Given the description of an element on the screen output the (x, y) to click on. 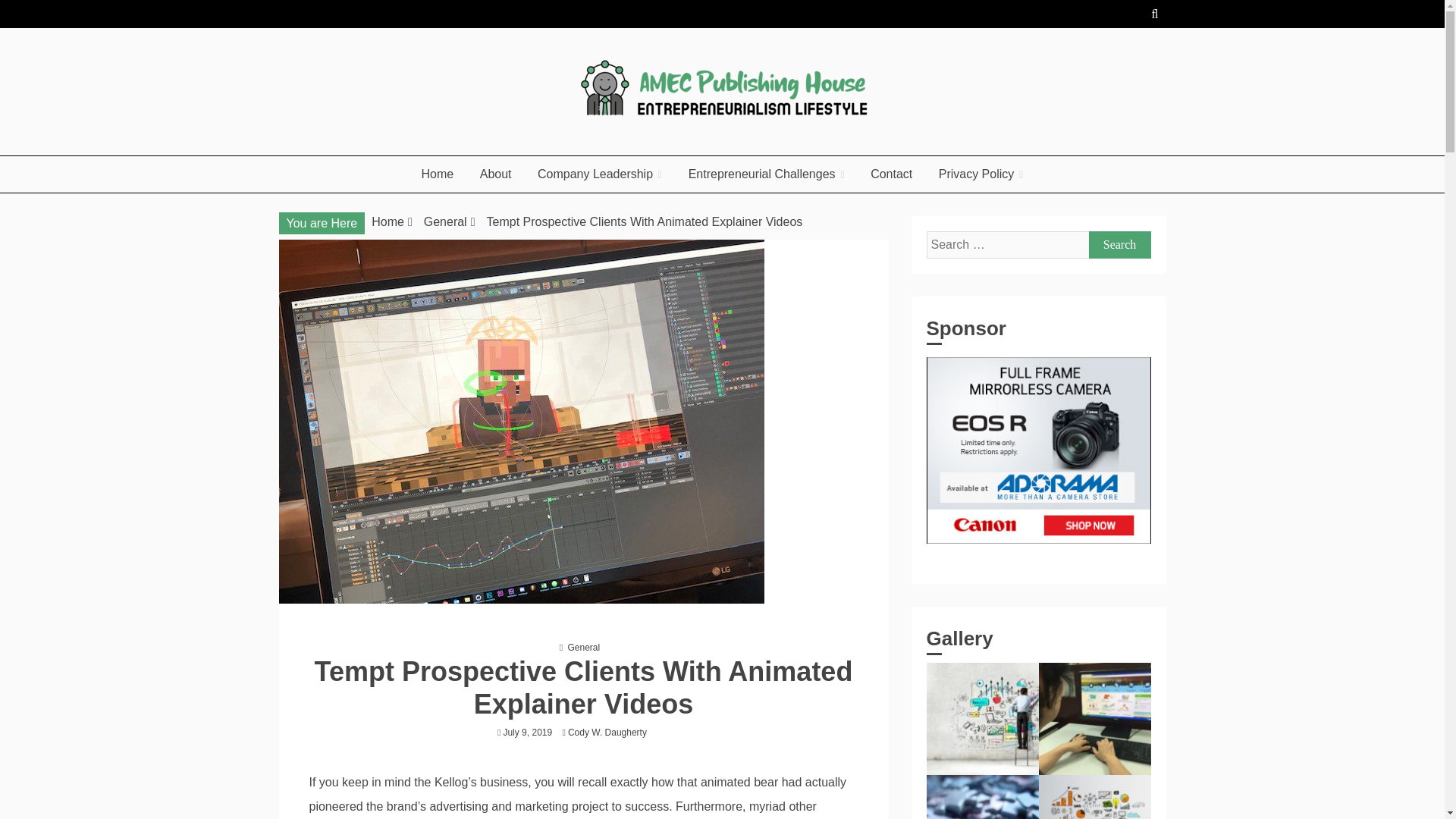
General (445, 221)
Cody W. Daugherty (610, 732)
July 9, 2019 (526, 732)
Home (437, 173)
Company Leadership (598, 173)
Search (1120, 244)
Entrepreneurial Challenges (766, 173)
Contact (891, 173)
General (583, 647)
Tempt Prospective Clients With Animated Explainer Videos (644, 221)
Search (1120, 244)
About (495, 173)
Home (387, 221)
Privacy Policy (981, 173)
